Given the description of an element on the screen output the (x, y) to click on. 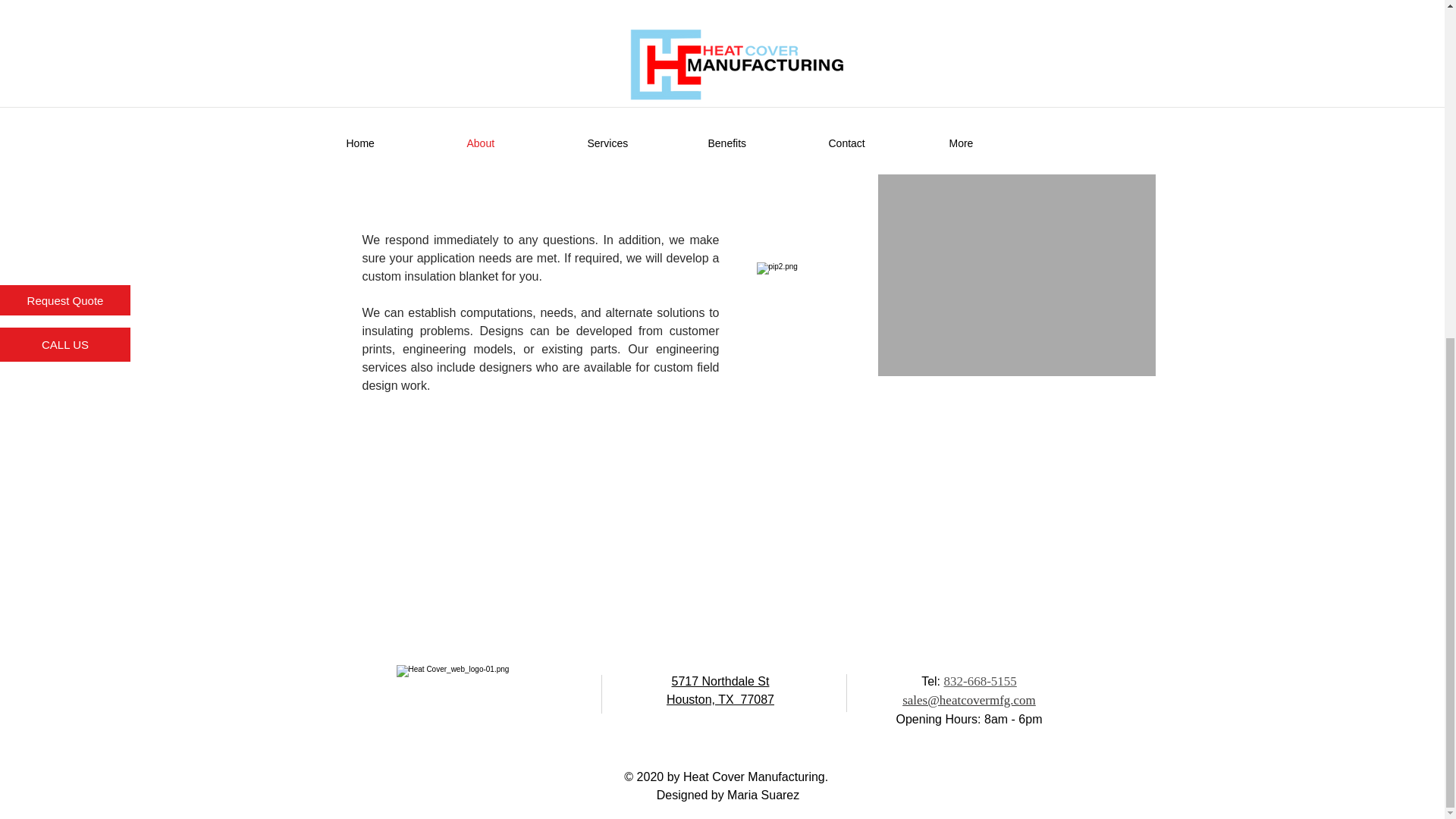
832-668-5155 (979, 680)
